Given the description of an element on the screen output the (x, y) to click on. 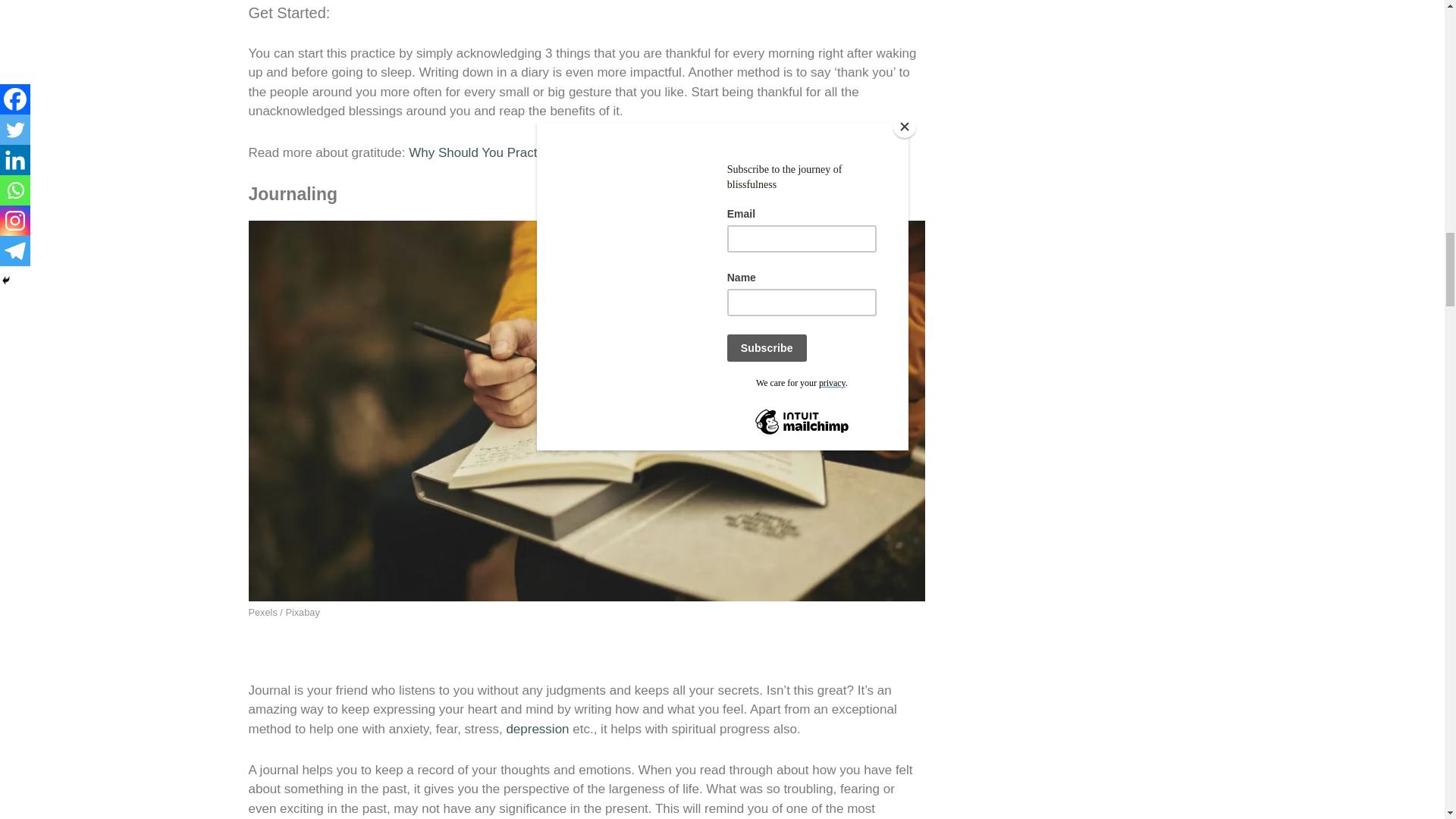
Why Should You Practice Gratitude (509, 152)
depression (537, 728)
